Given the description of an element on the screen output the (x, y) to click on. 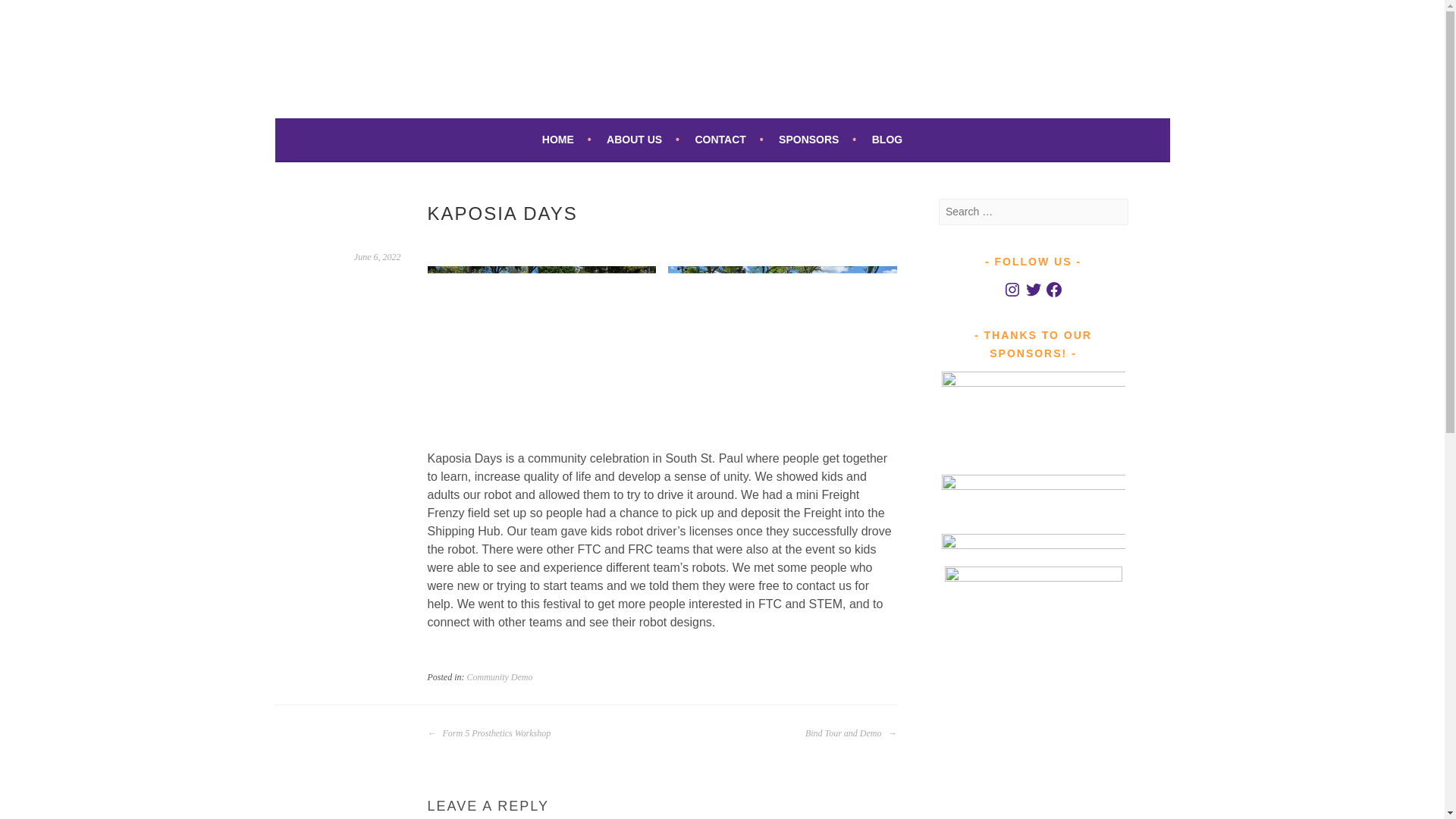
Instagram (1012, 289)
BLOG (887, 139)
Facebook (1053, 289)
Permalink to Kaposia Days (377, 256)
Twitter (1032, 289)
CONTACT (728, 139)
Search (30, 13)
ABOUT US (643, 139)
HOME (566, 139)
SPONSORS (817, 139)
